Given the description of an element on the screen output the (x, y) to click on. 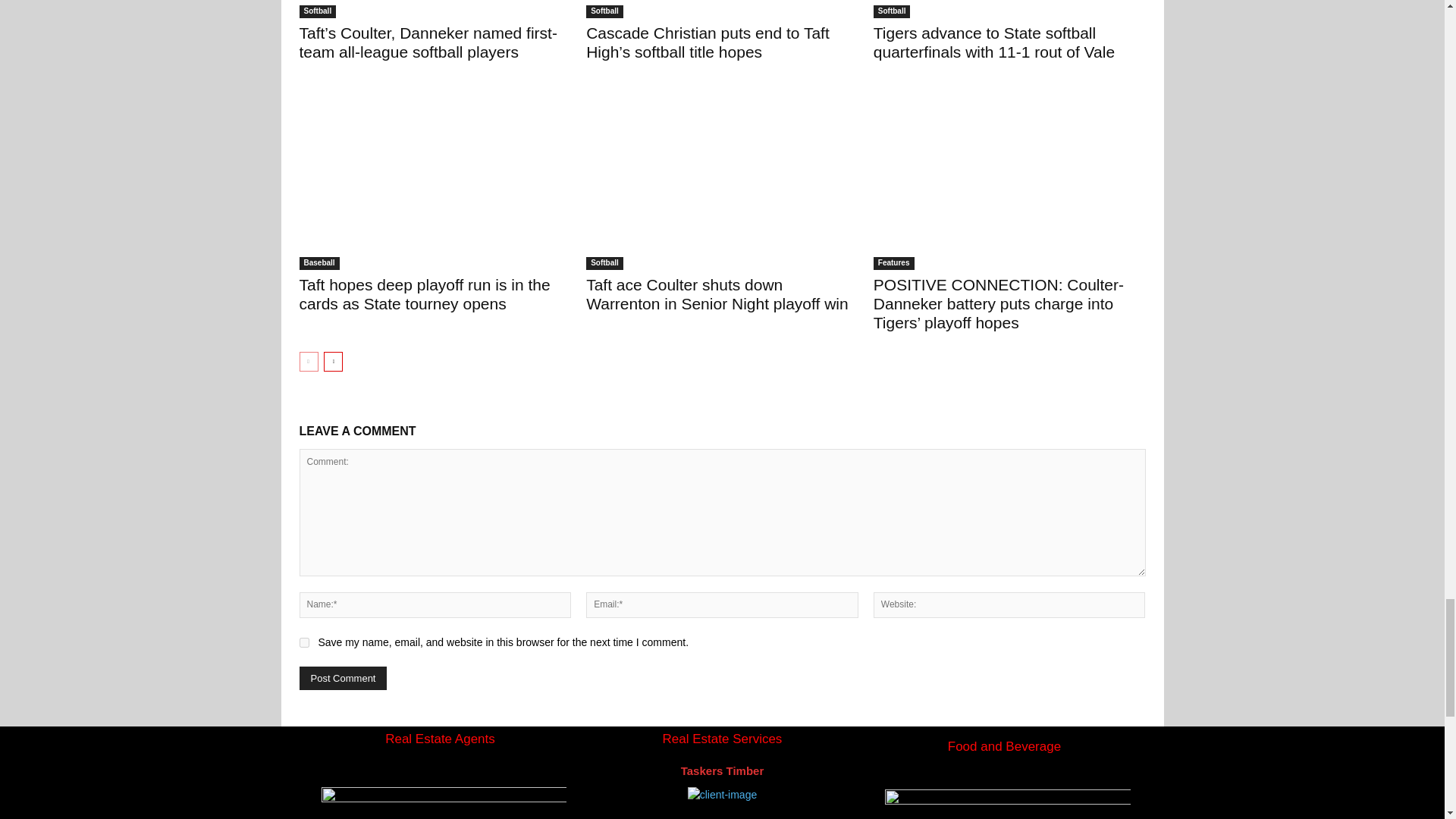
Post Comment (342, 678)
yes (303, 642)
